Given the description of an element on the screen output the (x, y) to click on. 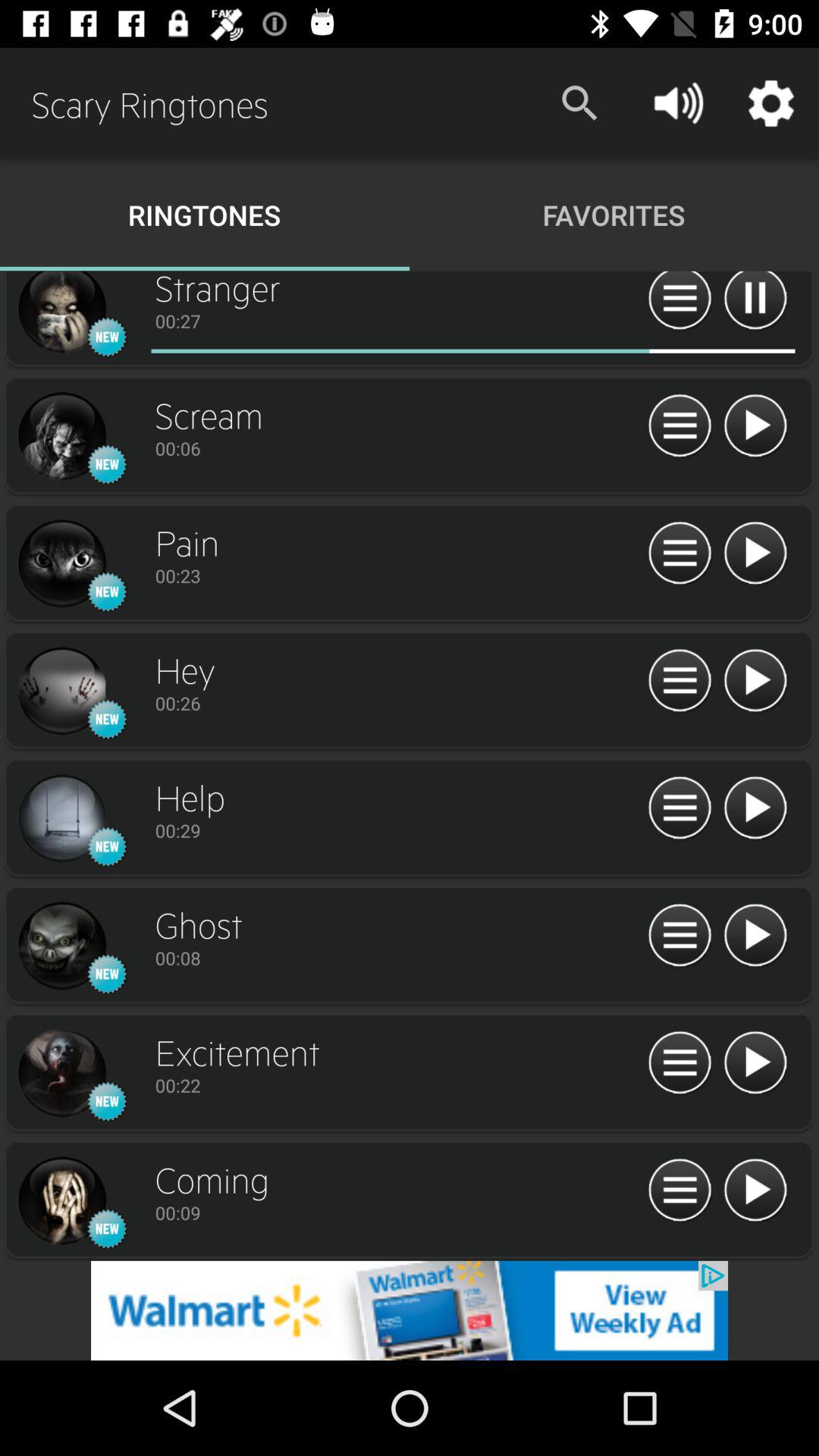
play button (755, 553)
